Given the description of an element on the screen output the (x, y) to click on. 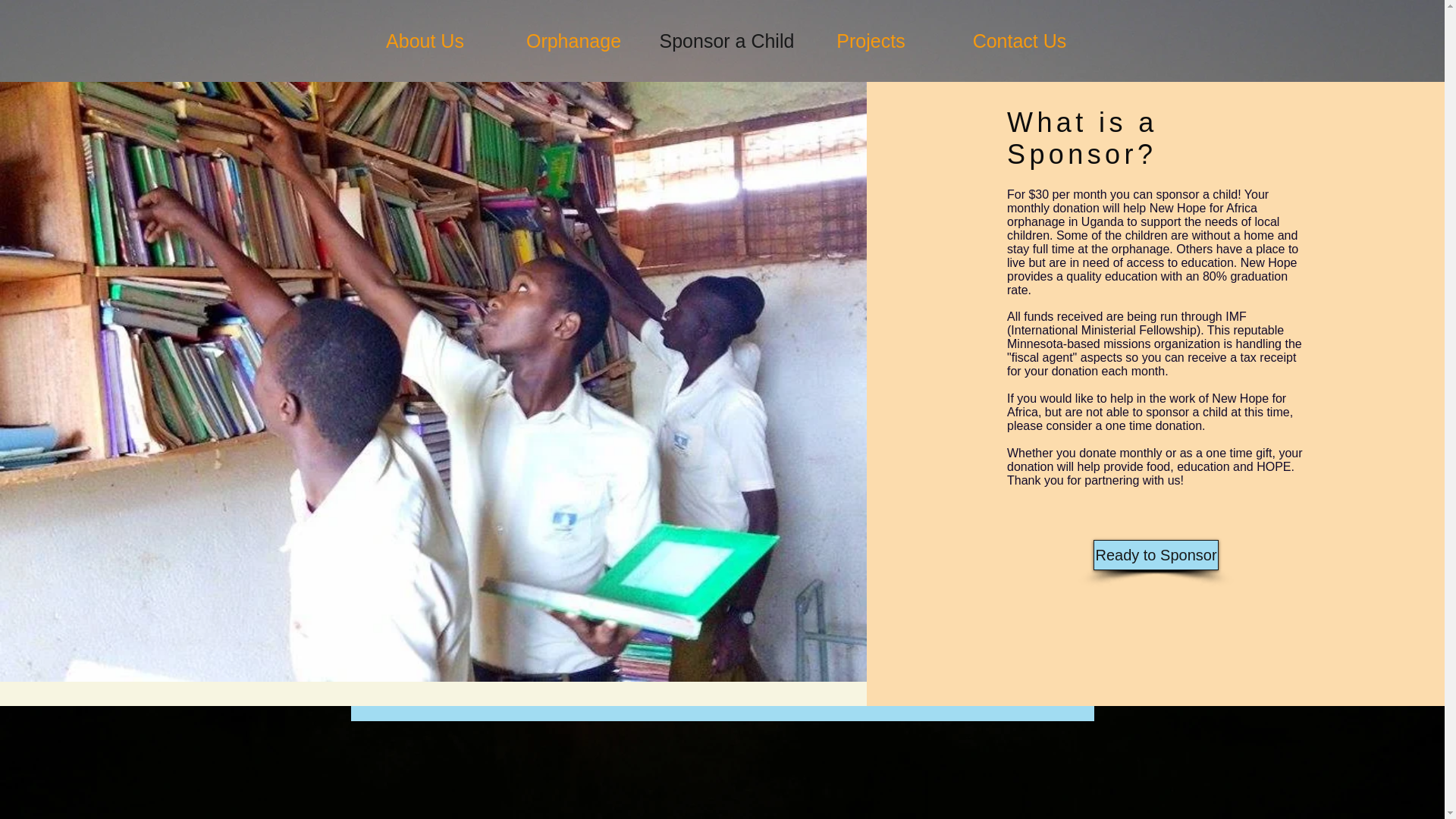
About Us (424, 40)
Projects (870, 40)
Orphanage (573, 40)
Sponsor a Child (721, 40)
Ready to Sponsor (1155, 554)
Contact Us (1018, 40)
